Given the description of an element on the screen output the (x, y) to click on. 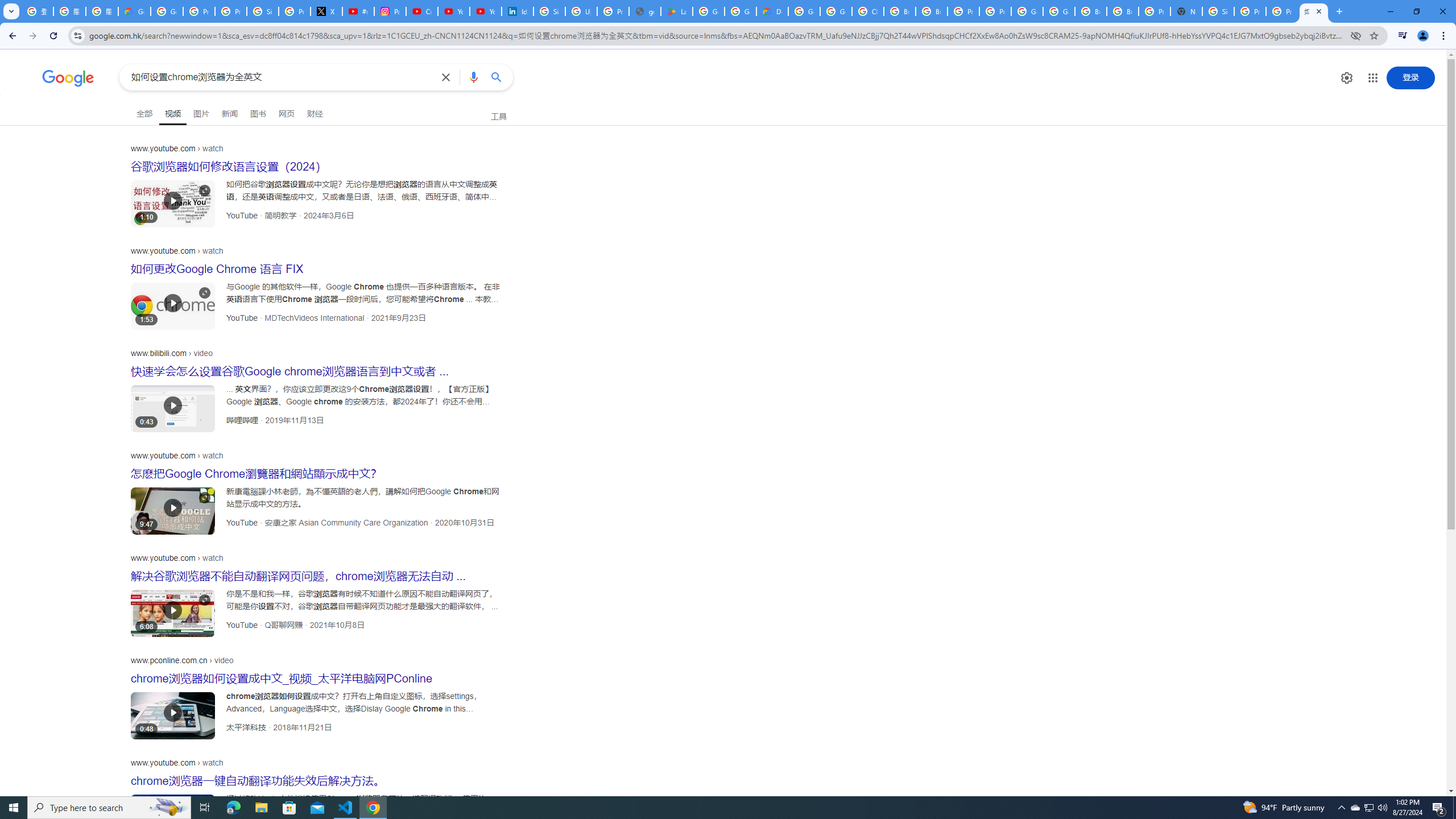
New Tab (1185, 11)
Sign in - Google Accounts (1217, 11)
Sign in - Google Accounts (262, 11)
Browse Chrome as a guest - Computer - Google Chrome Help (1091, 11)
